Given the description of an element on the screen output the (x, y) to click on. 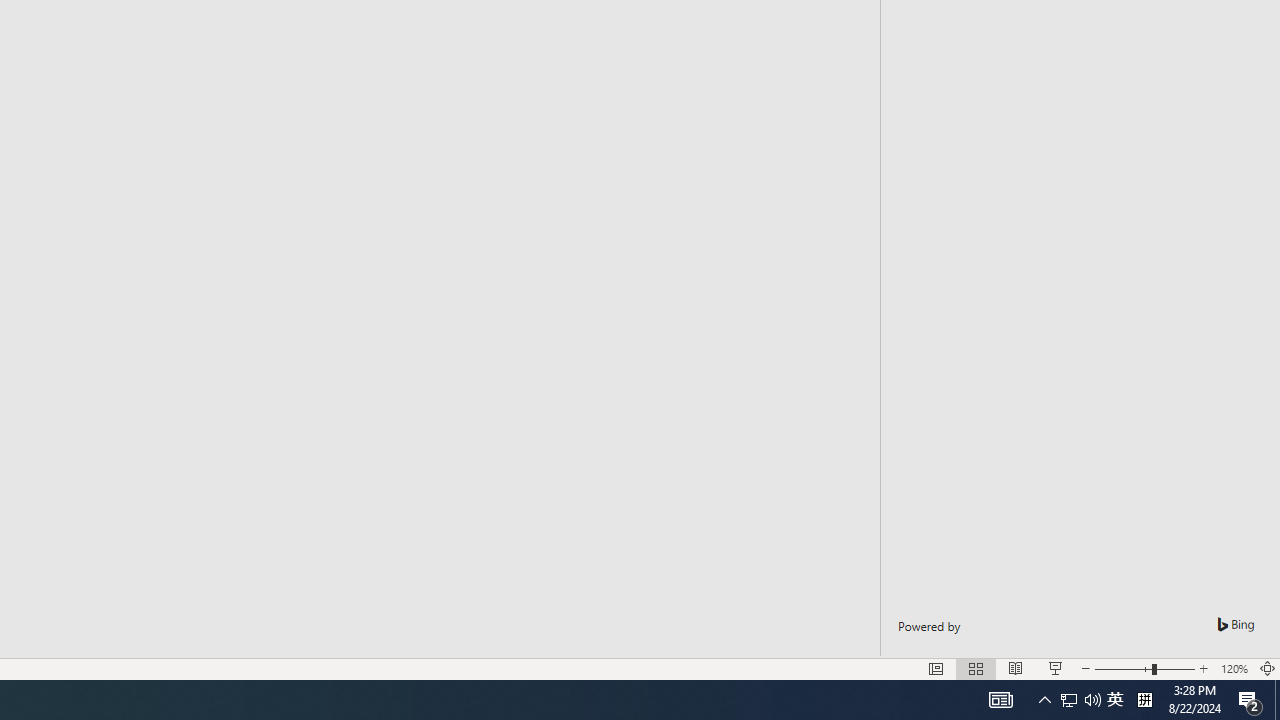
Zoom 120% (1234, 668)
